Given the description of an element on the screen output the (x, y) to click on. 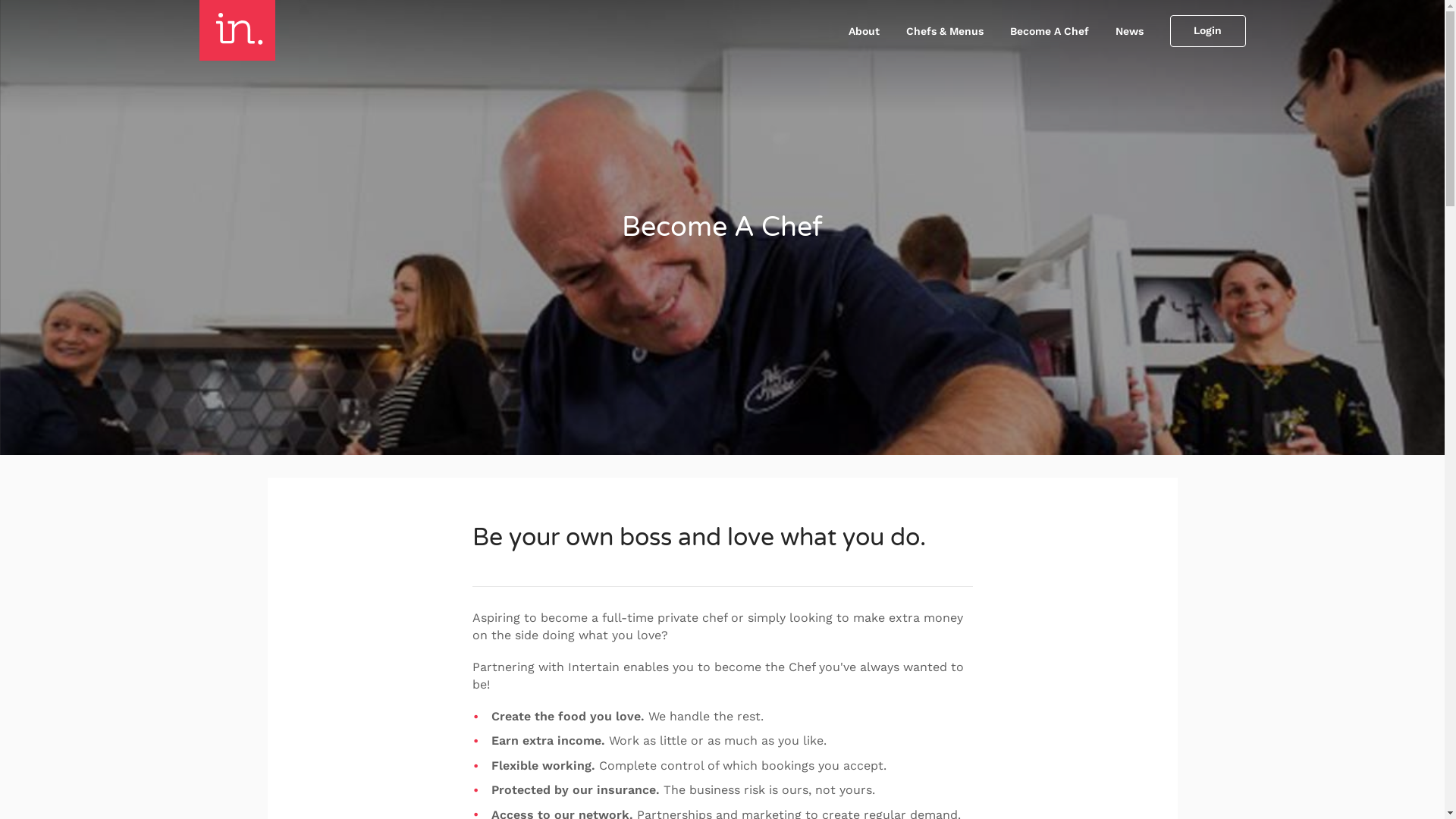
News Element type: text (1128, 30)
Become A Chef Element type: text (1049, 30)
About Element type: text (862, 30)
Login Element type: text (1207, 31)
Chefs & Menus Element type: text (943, 30)
